Given the description of an element on the screen output the (x, y) to click on. 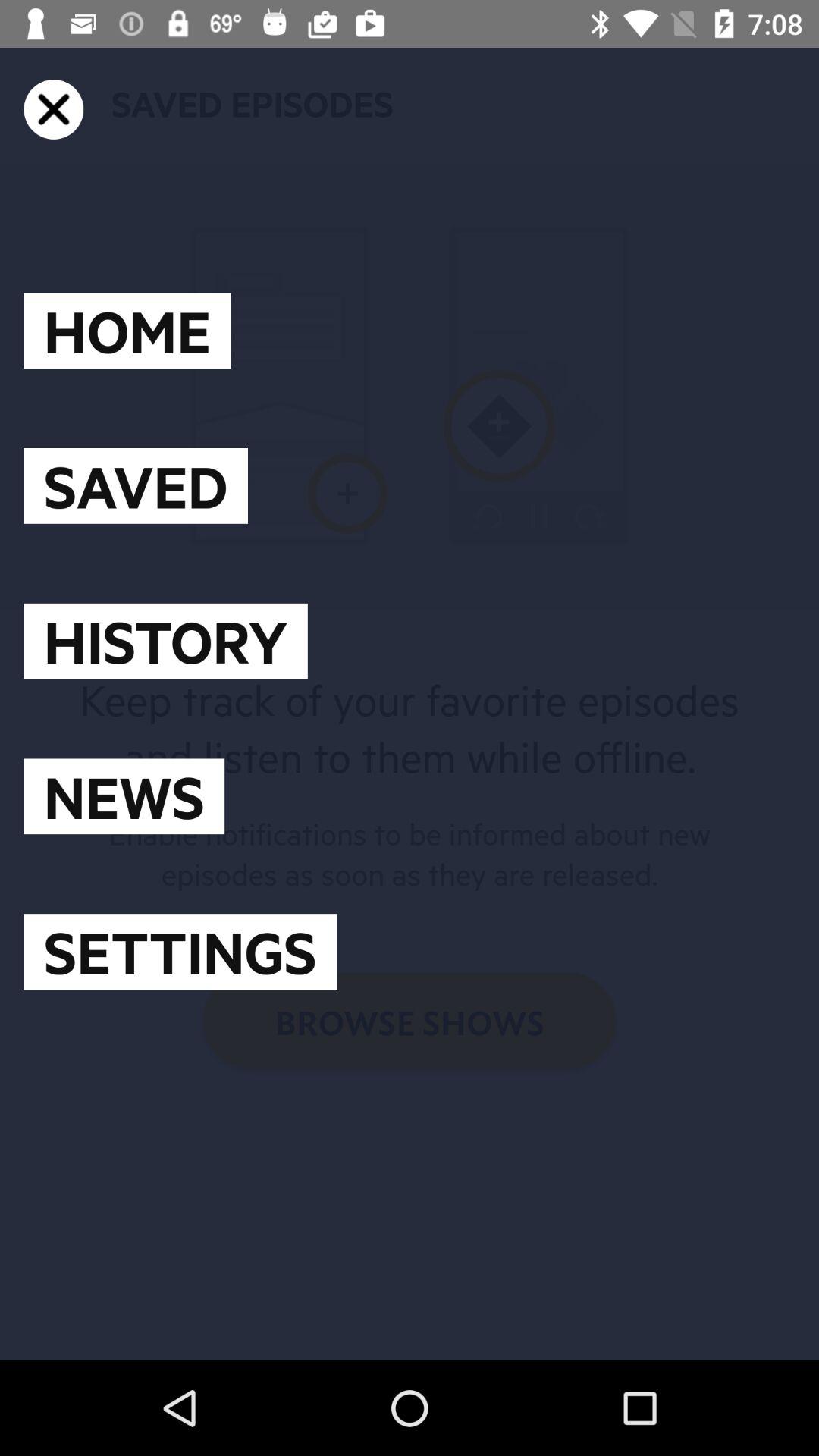
click item above the history item (135, 485)
